Given the description of an element on the screen output the (x, y) to click on. 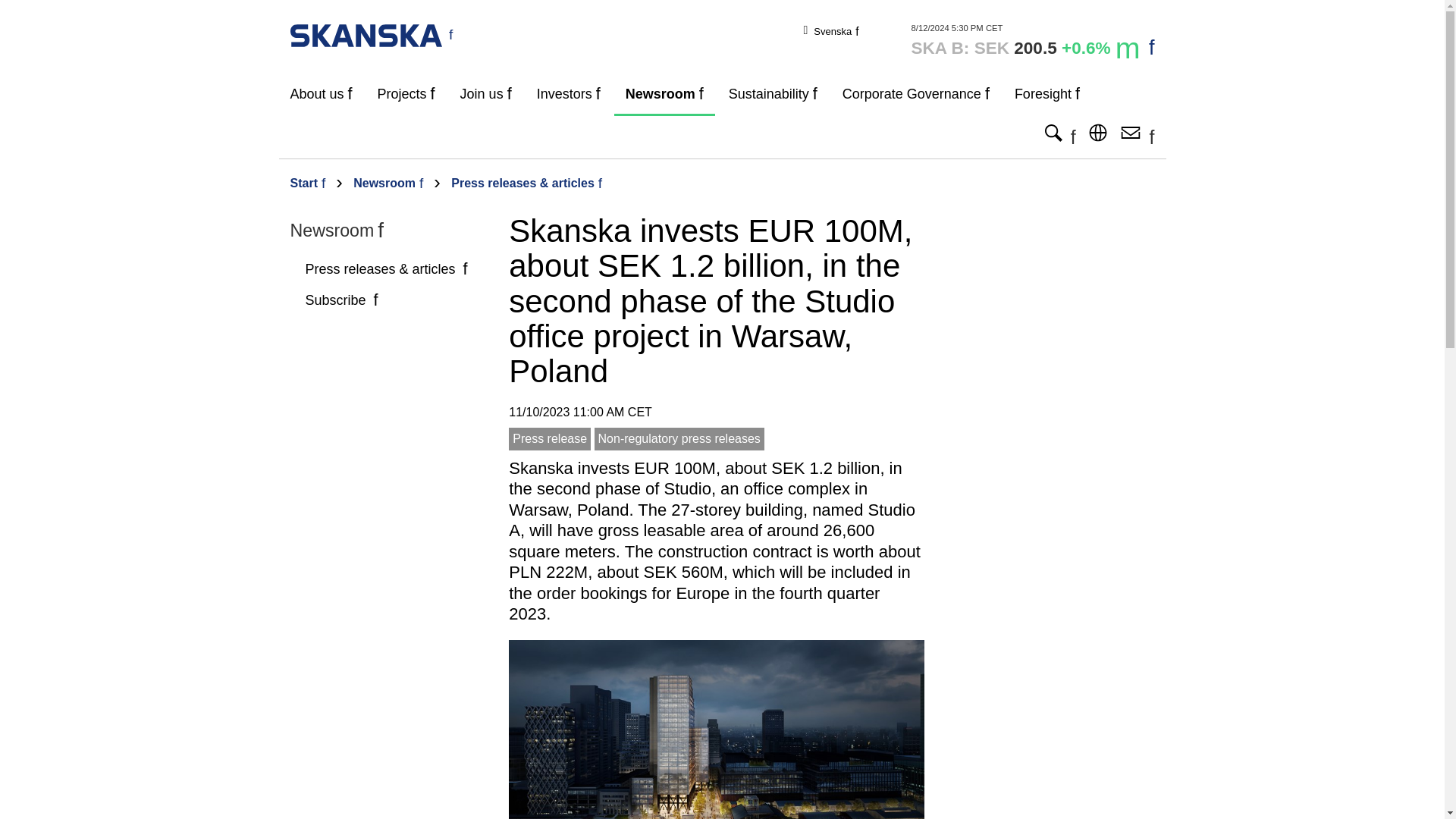
About us (321, 93)
Projects (406, 93)
Skanska (370, 33)
Svenska (836, 30)
Join us (485, 93)
Compare (1032, 40)
